Given the description of an element on the screen output the (x, y) to click on. 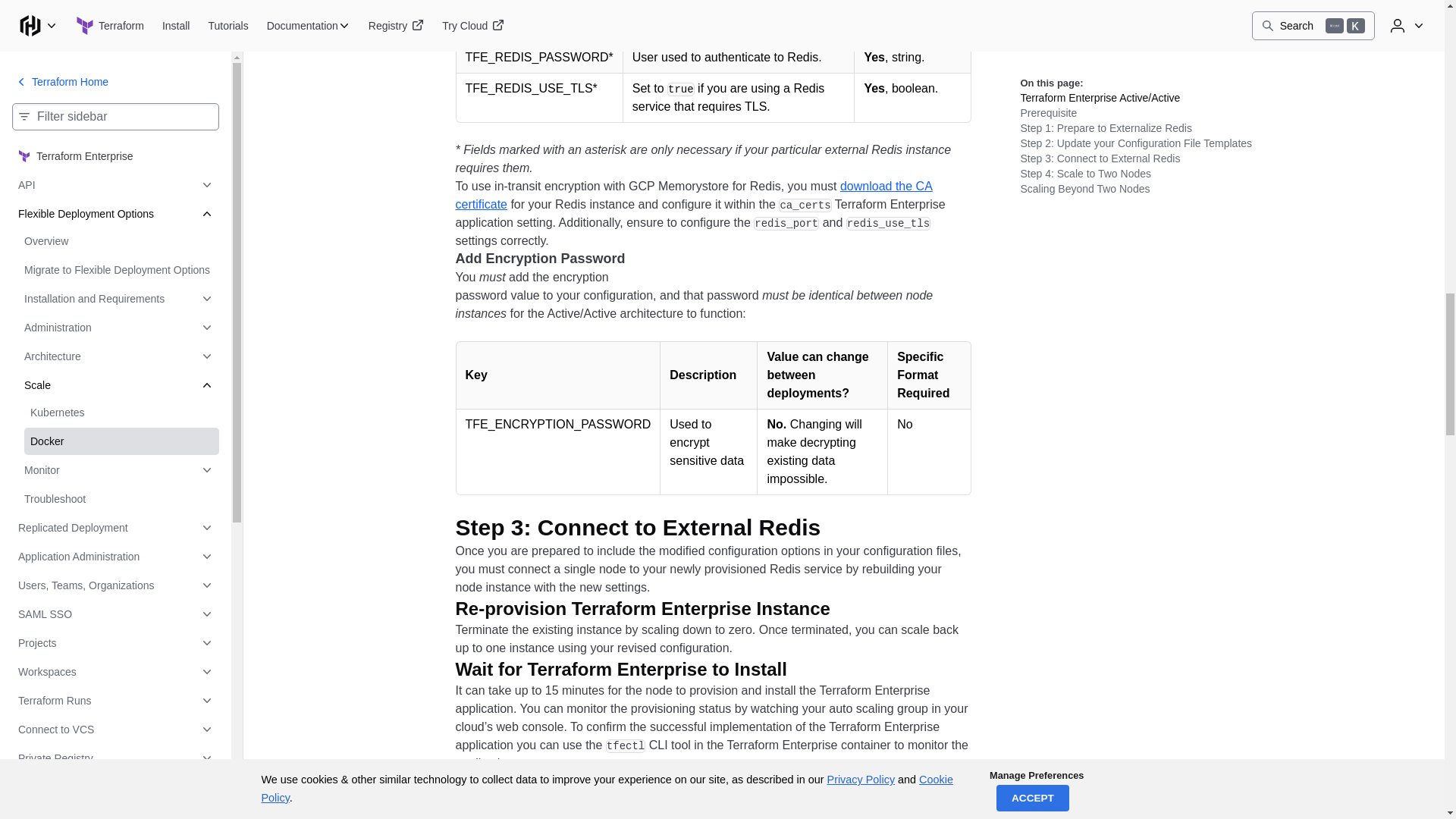
Re-provision Terraform Enterprise Instance (653, 608)
Add Encryption Password (551, 259)
Step 3: Connect to External Redis (649, 527)
Wait for Terraform Enterprise to Install (632, 669)
